Given the description of an element on the screen output the (x, y) to click on. 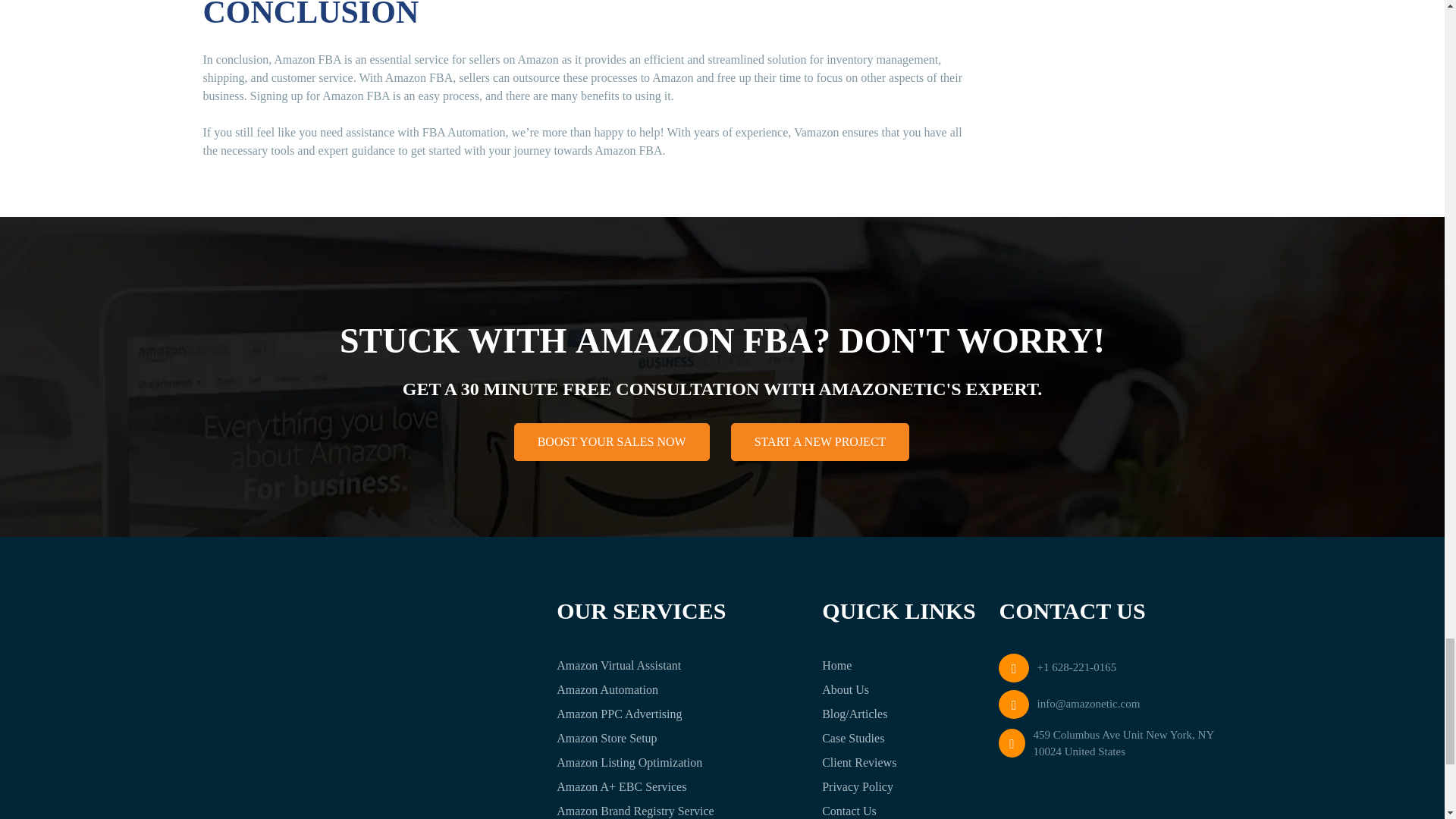
BOOST YOUR SALES NOW (611, 442)
START A NEW PROJECT (820, 442)
STUCK WITH AMAZON FBA? DON'T WORRY! (722, 340)
